Given the description of an element on the screen output the (x, y) to click on. 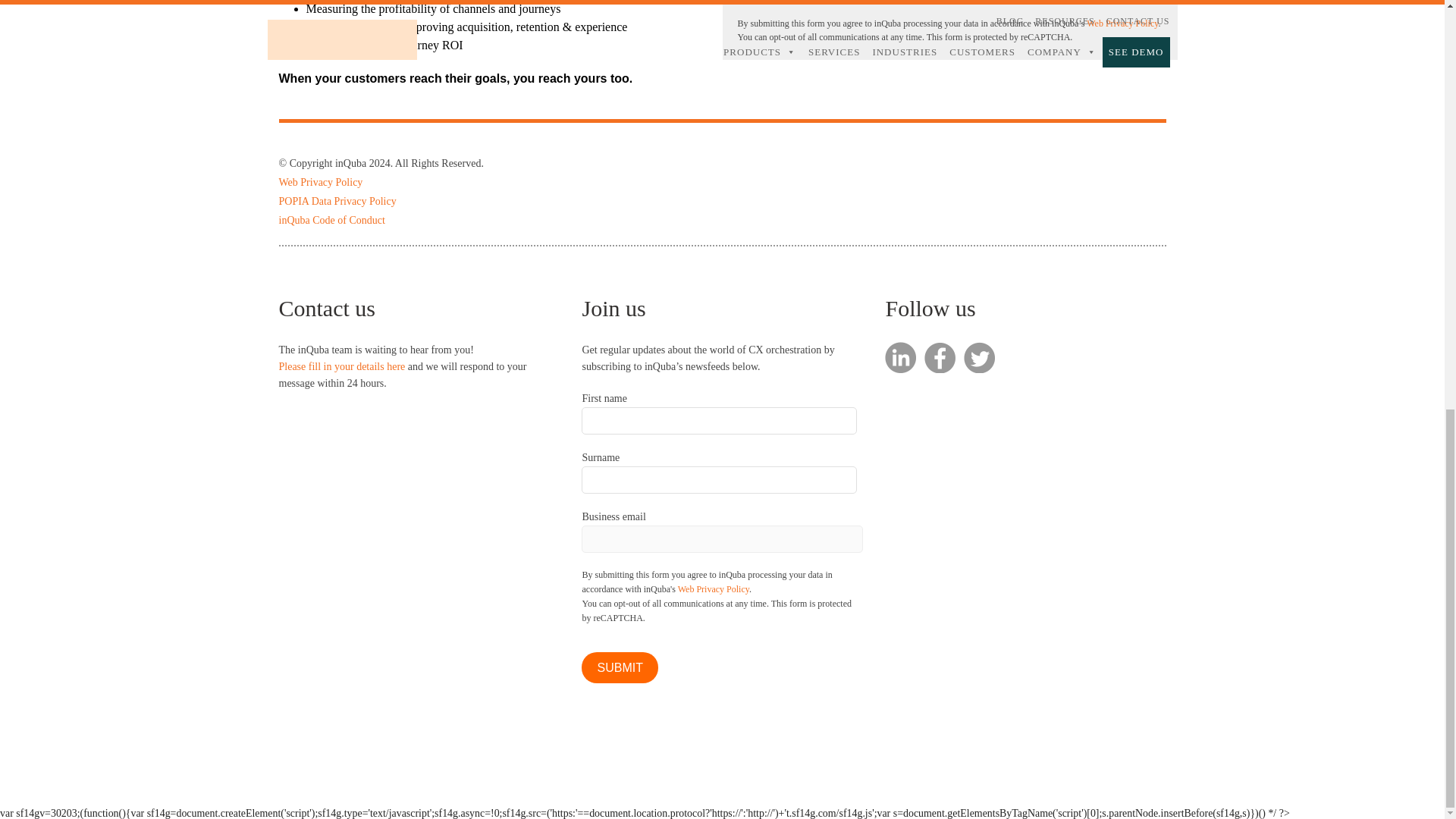
Submit (619, 667)
Please fill in your details here (342, 366)
Web Privacy Policy (320, 182)
POPIA Data Privacy Policy (337, 201)
Web Privacy Policy (713, 588)
Web Privacy Policy (1121, 22)
Submit (619, 667)
inQuba Code of Conduct (332, 220)
